Given the description of an element on the screen output the (x, y) to click on. 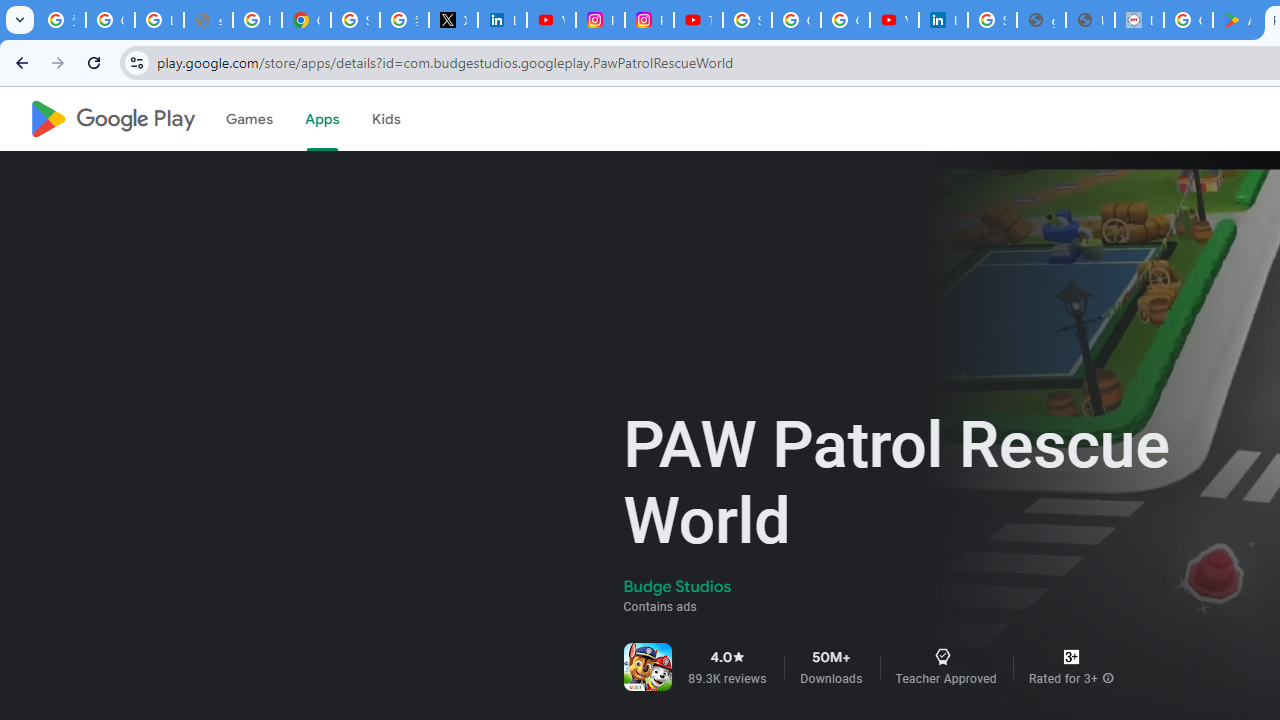
More info about this content rating (1108, 678)
Budge Studios (677, 586)
Privacy Help Center - Policies Help (257, 20)
Google Play logo (111, 119)
Content rating (1071, 656)
Android Apps on Google Play (1237, 20)
LinkedIn Privacy Policy (502, 20)
